Given the description of an element on the screen output the (x, y) to click on. 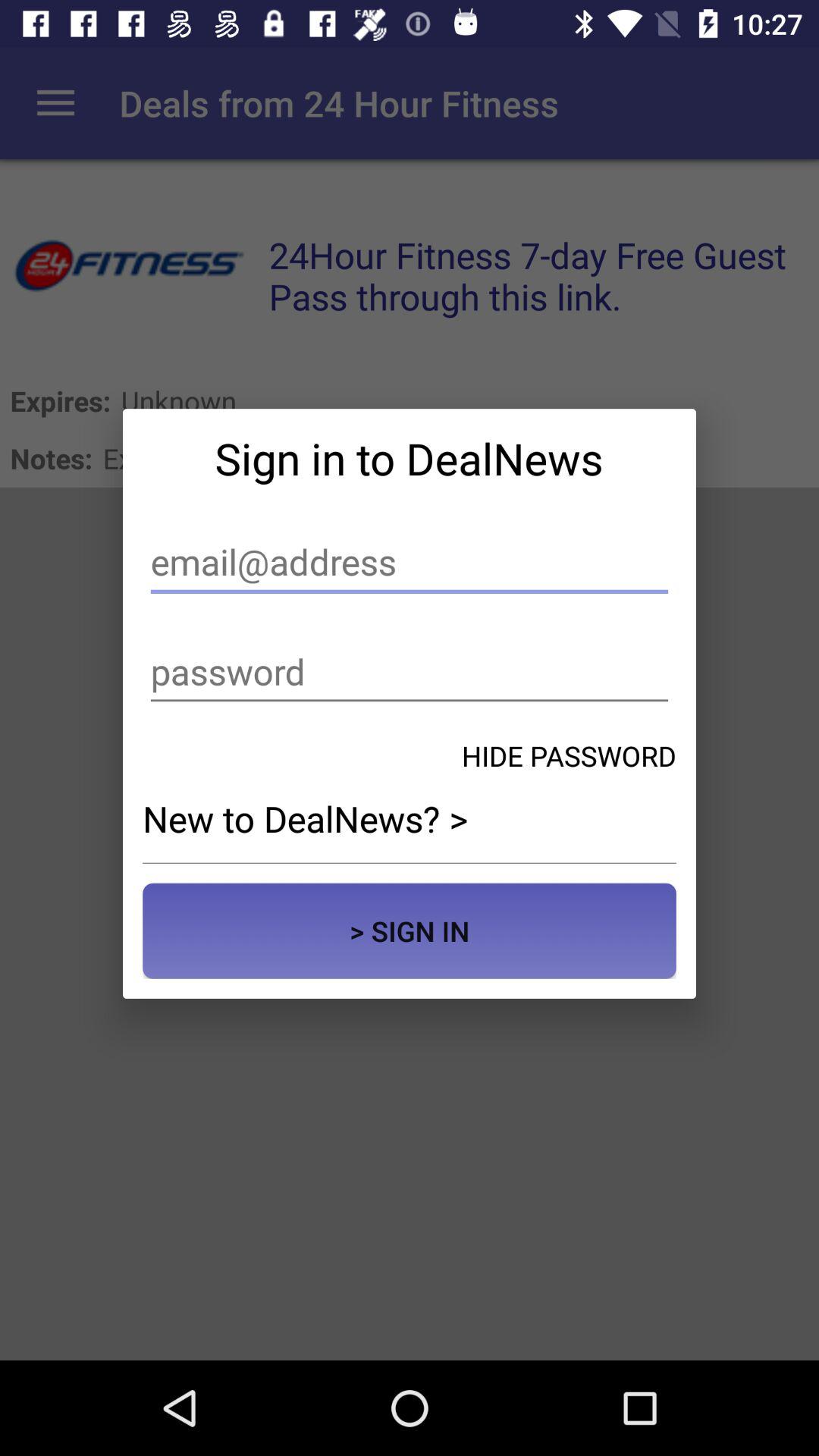
launch icon above new to dealnews? > (568, 755)
